Given the description of an element on the screen output the (x, y) to click on. 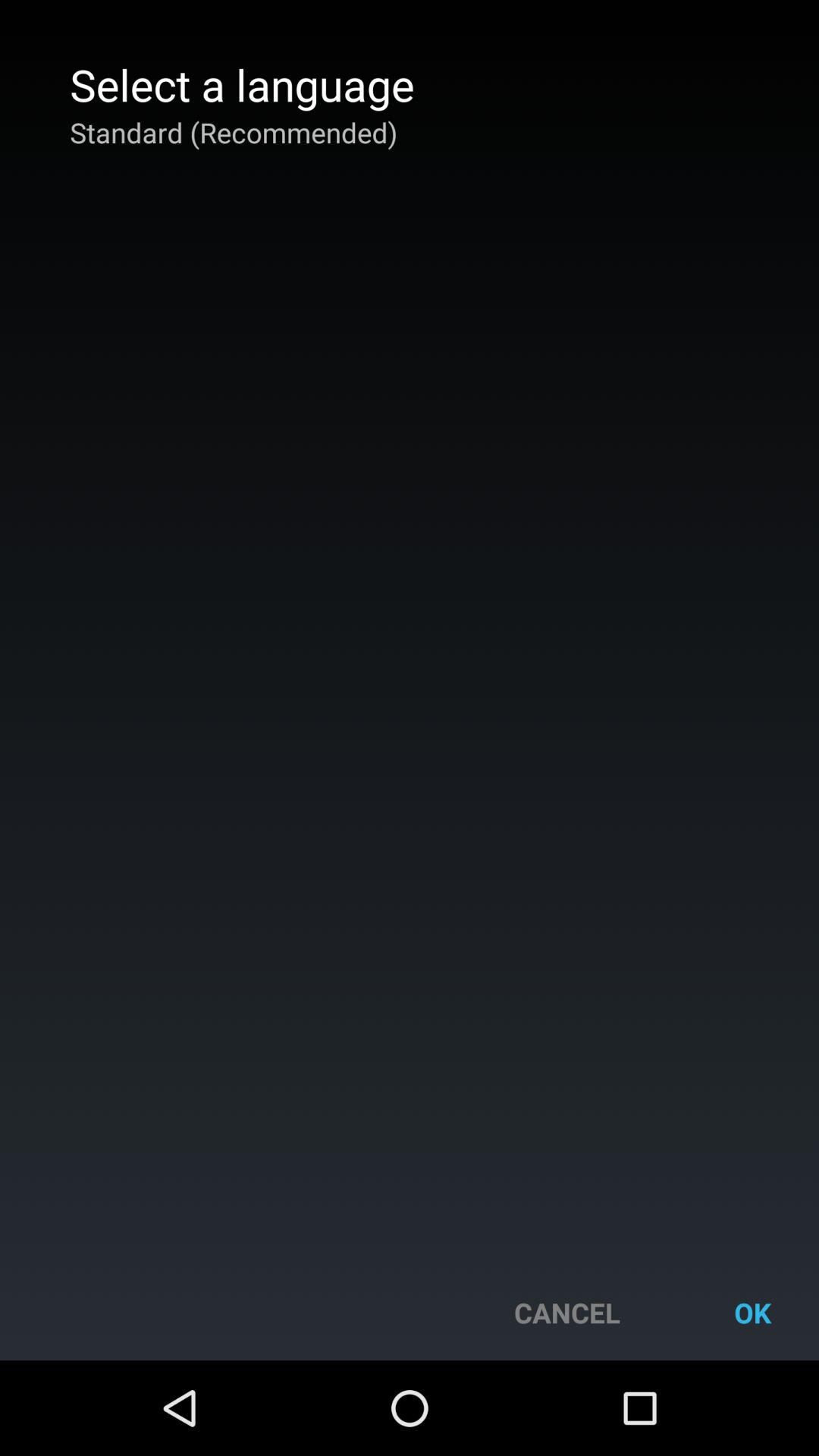
press button next to the cancel button (752, 1312)
